Given the description of an element on the screen output the (x, y) to click on. 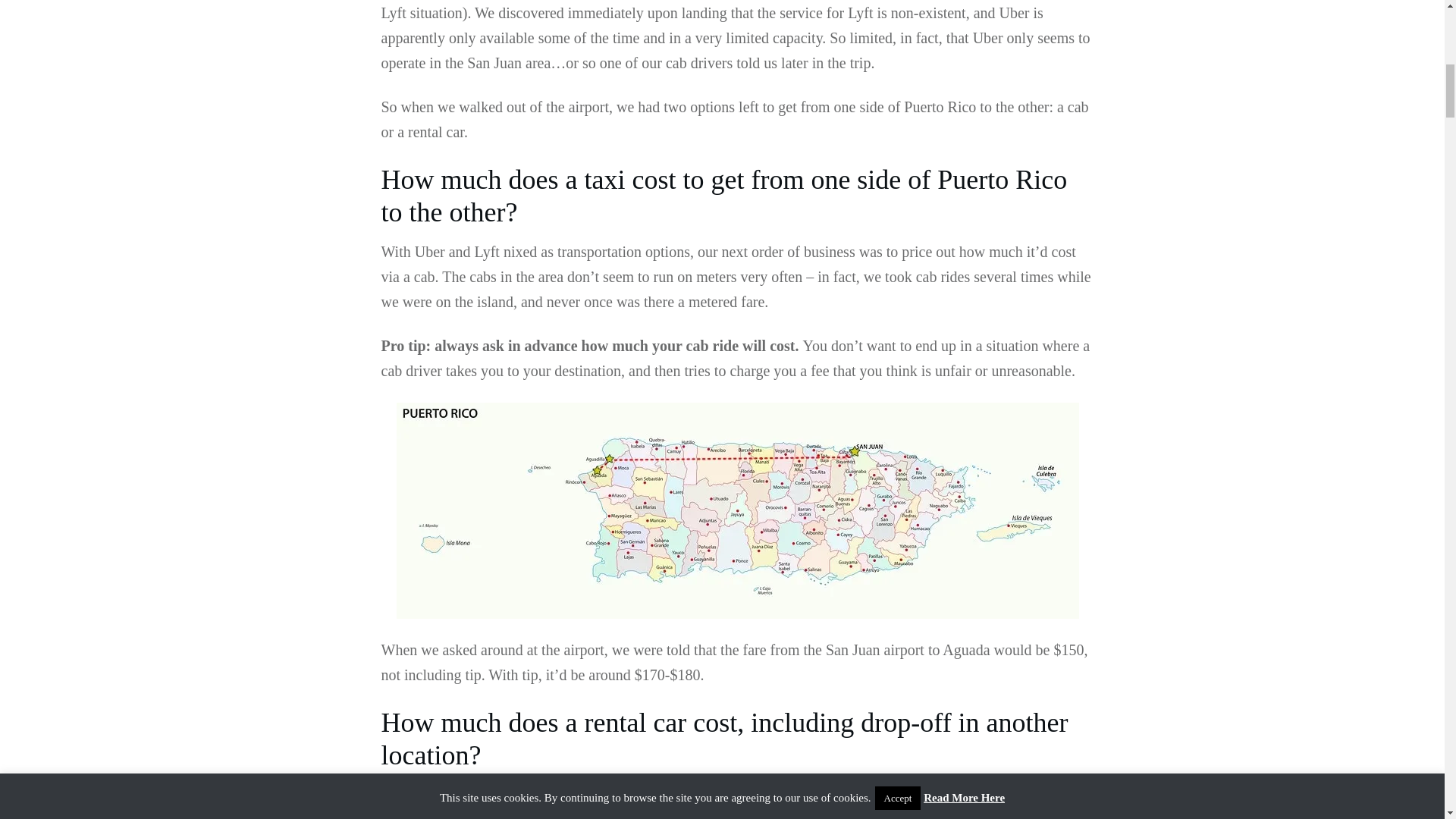
Three Kings Day (715, 815)
